Given the description of an element on the screen output the (x, y) to click on. 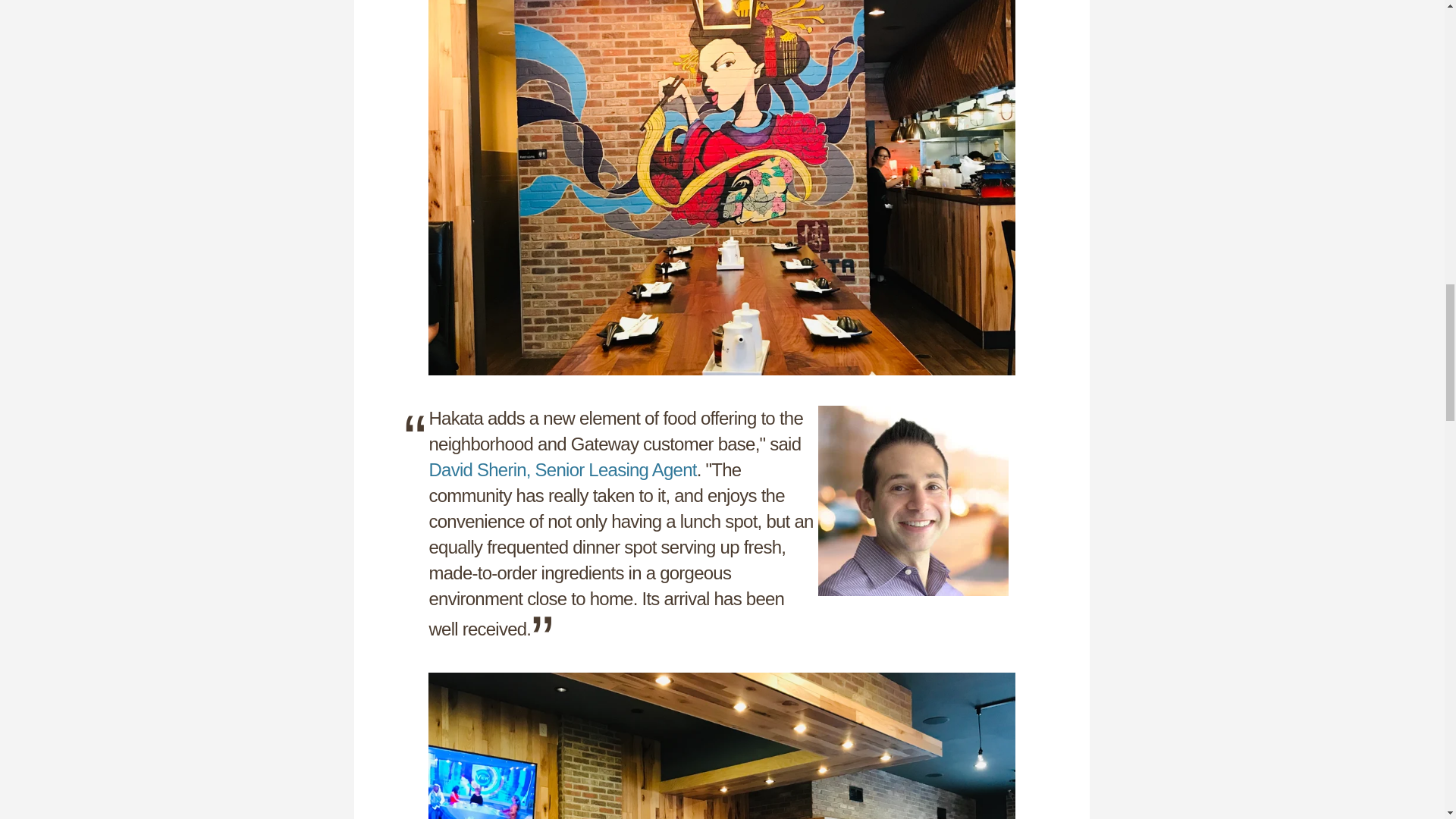
David Sherin, Senior Leasing Agent (561, 469)
